Given the description of an element on the screen output the (x, y) to click on. 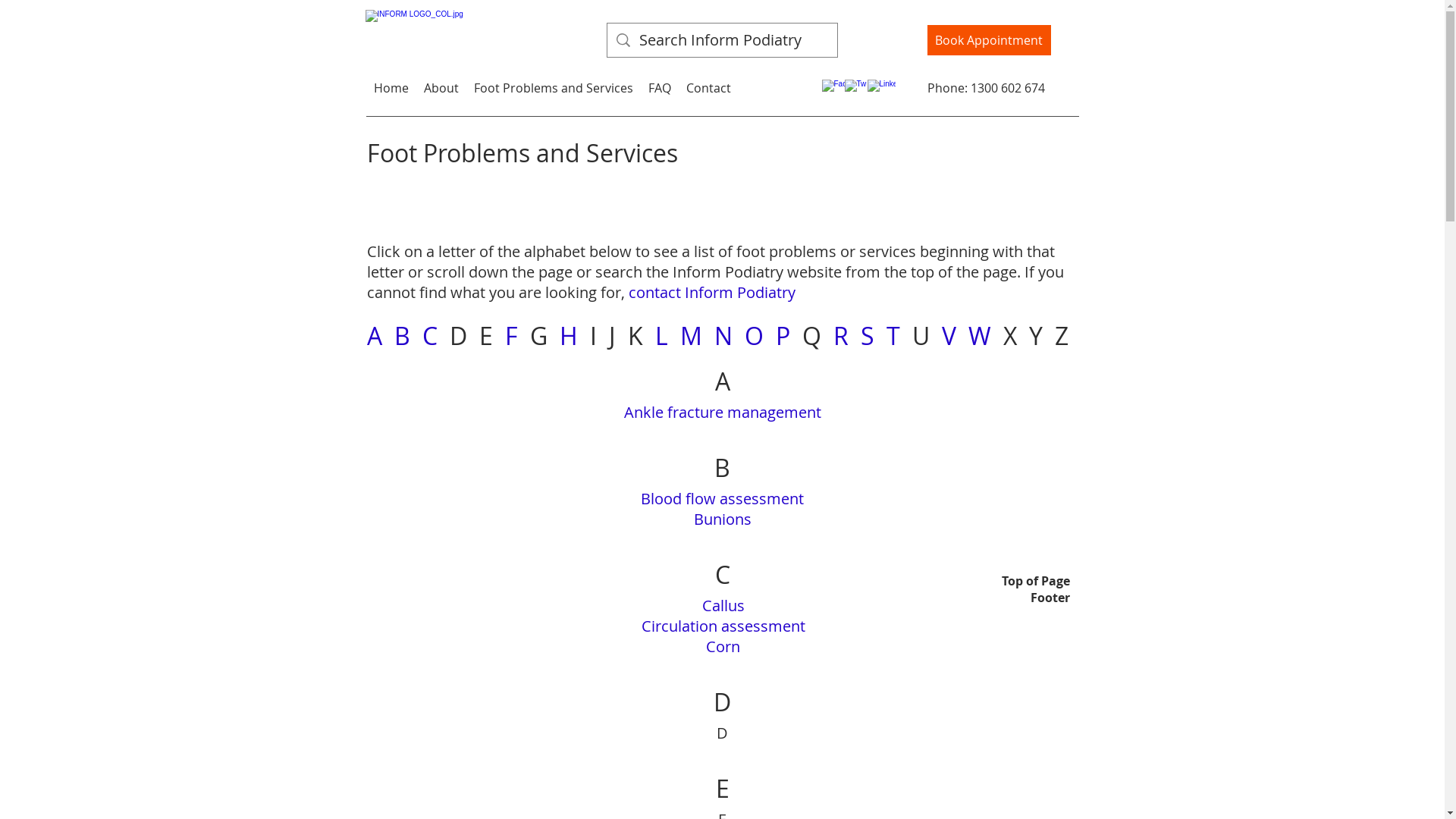
Ankle fracture management Element type: text (721, 411)
Circulation assessment Element type: text (723, 625)
A Element type: text (374, 335)
N Element type: text (723, 335)
P Element type: text (782, 335)
Home Element type: text (390, 87)
FAQ Element type: text (658, 87)
L Element type: text (661, 335)
Footer Element type: text (1035, 597)
F Element type: text (511, 335)
R Element type: text (839, 335)
S Element type: text (866, 335)
Book Appointment Element type: text (988, 40)
Contact Element type: text (707, 87)
C Element type: text (428, 335)
Corn Element type: text (723, 646)
contact Inform Podiatry Element type: text (710, 292)
B Element type: text (402, 335)
Top of Page Element type: text (1035, 580)
Foot Problems and Services Element type: text (552, 87)
H Element type: text (568, 335)
V Element type: text (948, 335)
T Element type: text (892, 335)
O Element type: text (753, 335)
Bunions Element type: text (721, 518)
M Element type: text (690, 335)
About Element type: text (440, 87)
W Element type: text (978, 335)
Blood flow assessment Element type: text (721, 498)
Callus Element type: text (723, 605)
